Given the description of an element on the screen output the (x, y) to click on. 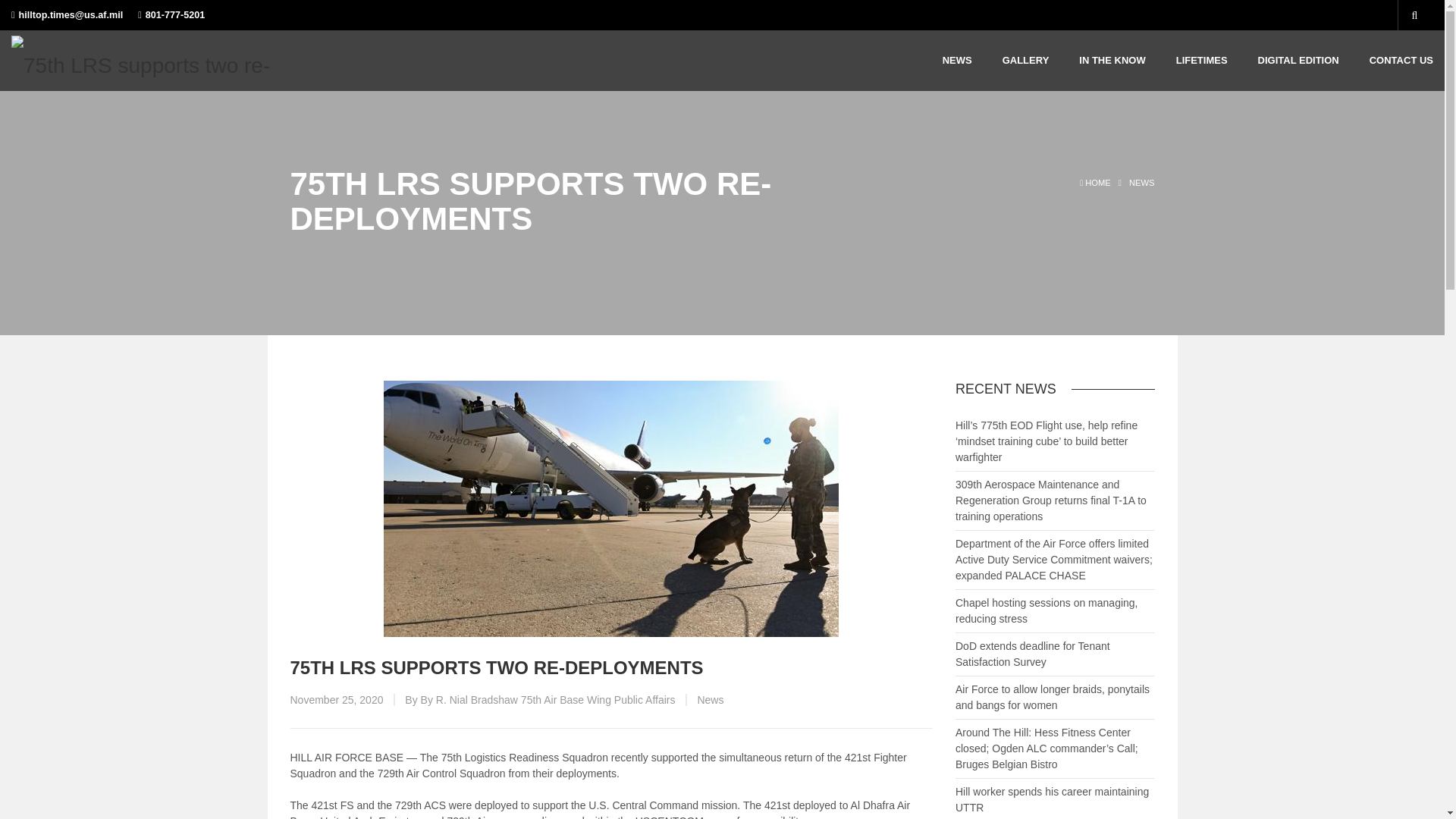
CONTACT US (1401, 60)
DIGITAL EDITION (1298, 60)
NEWS (1141, 182)
By R. Nial Bradshaw 75th Air Base Wing Public Affairs (547, 699)
IN THE KNOW (1111, 60)
HOME (1093, 182)
November 25, 2020 (335, 699)
75th LRS supports two re-deployments (611, 508)
News (710, 699)
